Given the description of an element on the screen output the (x, y) to click on. 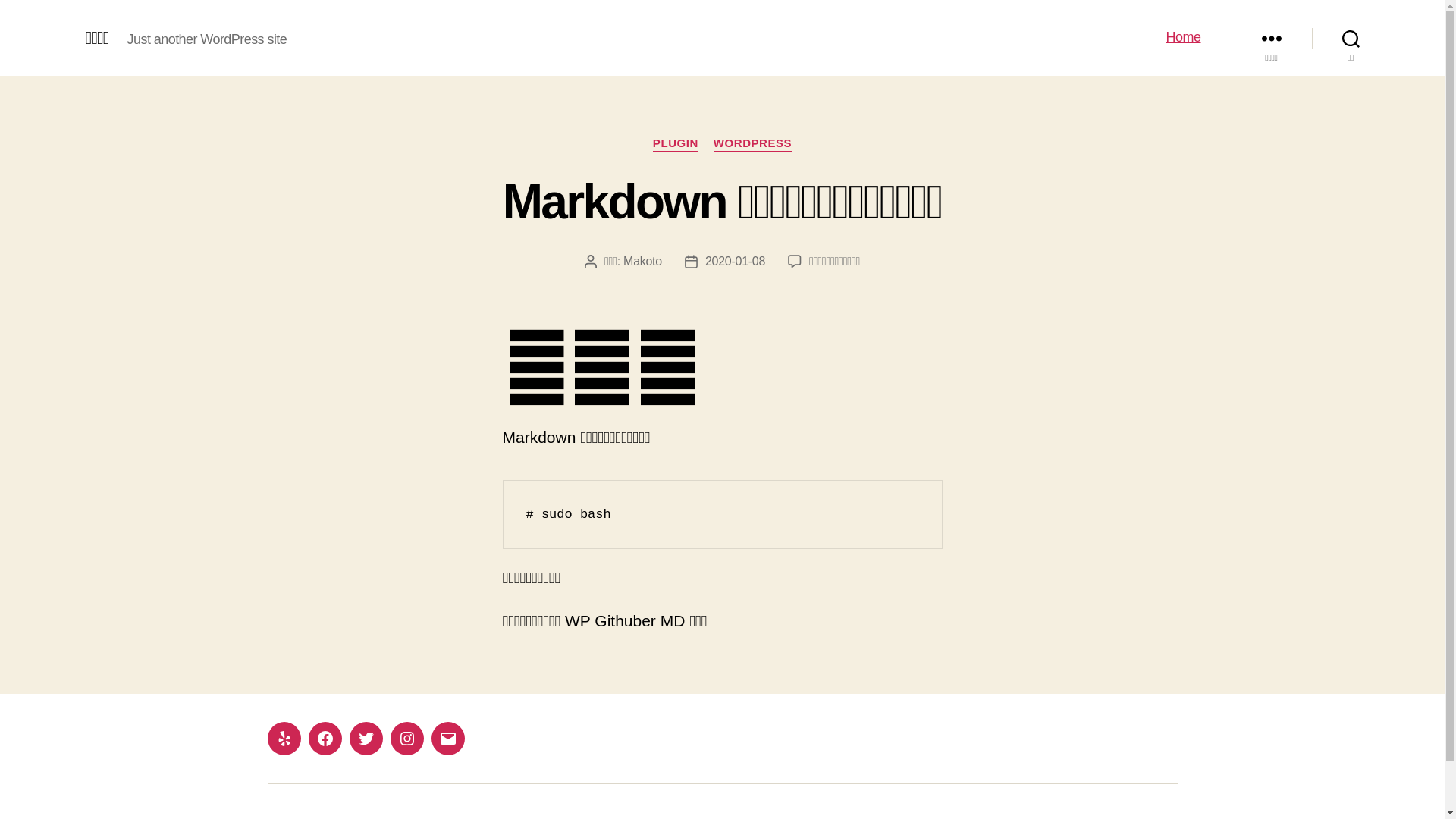
Makoto Element type: text (642, 260)
Twitter Element type: text (365, 738)
Instagram Element type: text (406, 738)
PLUGIN Element type: text (675, 143)
Yelp Element type: text (283, 738)
WORDPRESS Element type: text (752, 143)
2020-01-08 Element type: text (735, 260)
Email Element type: text (447, 738)
Facebook Element type: text (324, 738)
Home Element type: text (1182, 37)
